Given the description of an element on the screen output the (x, y) to click on. 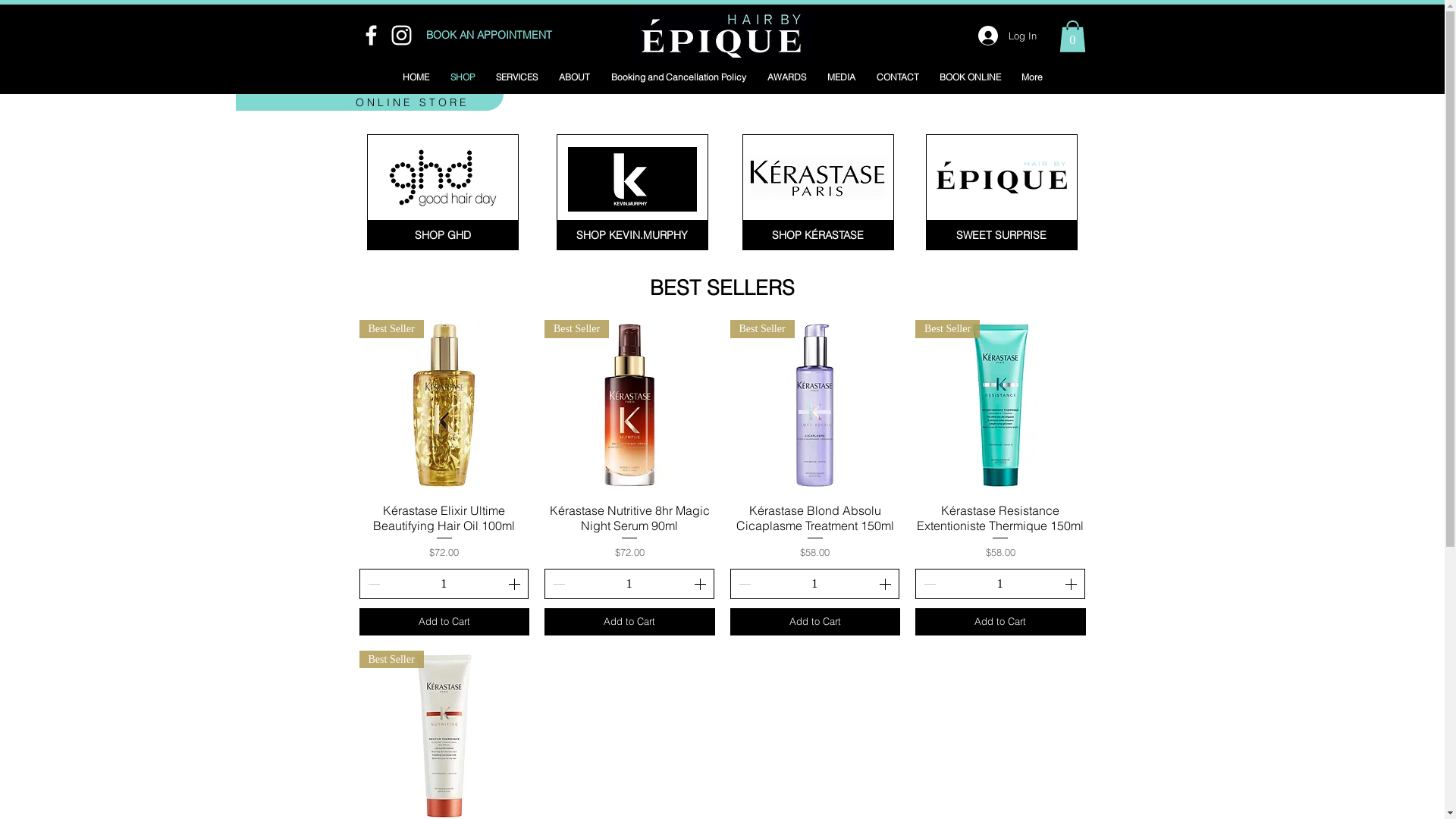
Add to Cart Element type: text (629, 621)
SERVICES Element type: text (516, 76)
SHOP Element type: text (462, 76)
SWEET SURPRISE Element type: text (1000, 234)
SHOP GHD Element type: text (442, 234)
MEDIA Element type: text (840, 76)
Best Seller Element type: text (444, 405)
SHOP KEVIN.MURPHY Element type: text (632, 234)
Booking and Cancellation Policy Element type: text (678, 76)
BOOK ONLINE Element type: text (970, 76)
Add to Cart Element type: text (1000, 621)
Add to Cart Element type: text (444, 621)
BOOK AN APPOINTMENT Element type: text (488, 35)
Add to Cart Element type: text (814, 621)
0 Element type: text (1071, 36)
Log In Element type: text (1007, 35)
Best Seller Element type: text (814, 405)
Best Seller Element type: text (1000, 405)
AWARDS Element type: text (786, 76)
CONTACT Element type: text (897, 76)
HOME Element type: text (415, 76)
ABOUT Element type: text (573, 76)
Best Seller Element type: text (629, 405)
